Given the description of an element on the screen output the (x, y) to click on. 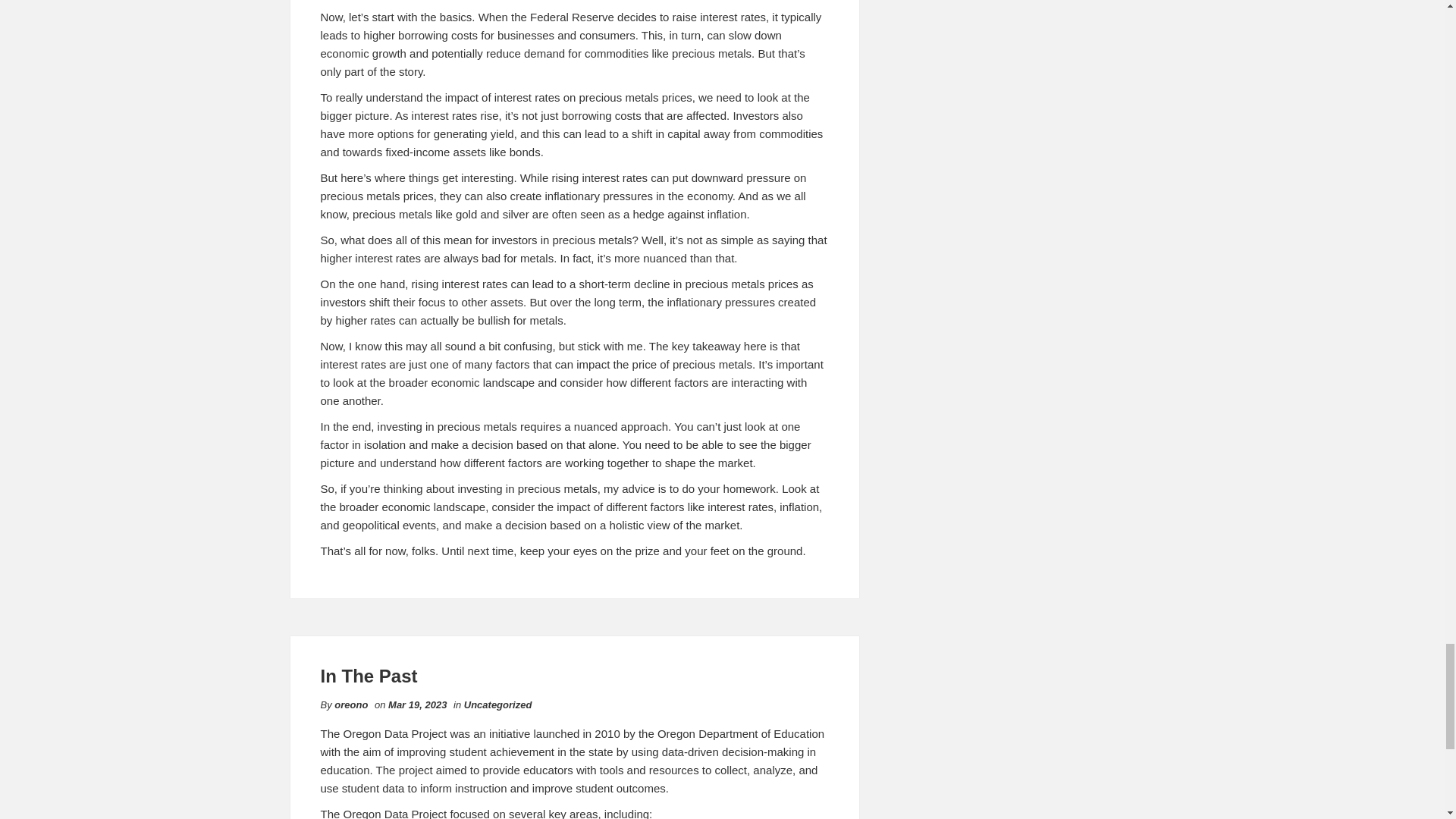
In The Past (368, 675)
oreono (351, 704)
Uncategorized (498, 704)
